Given the description of an element on the screen output the (x, y) to click on. 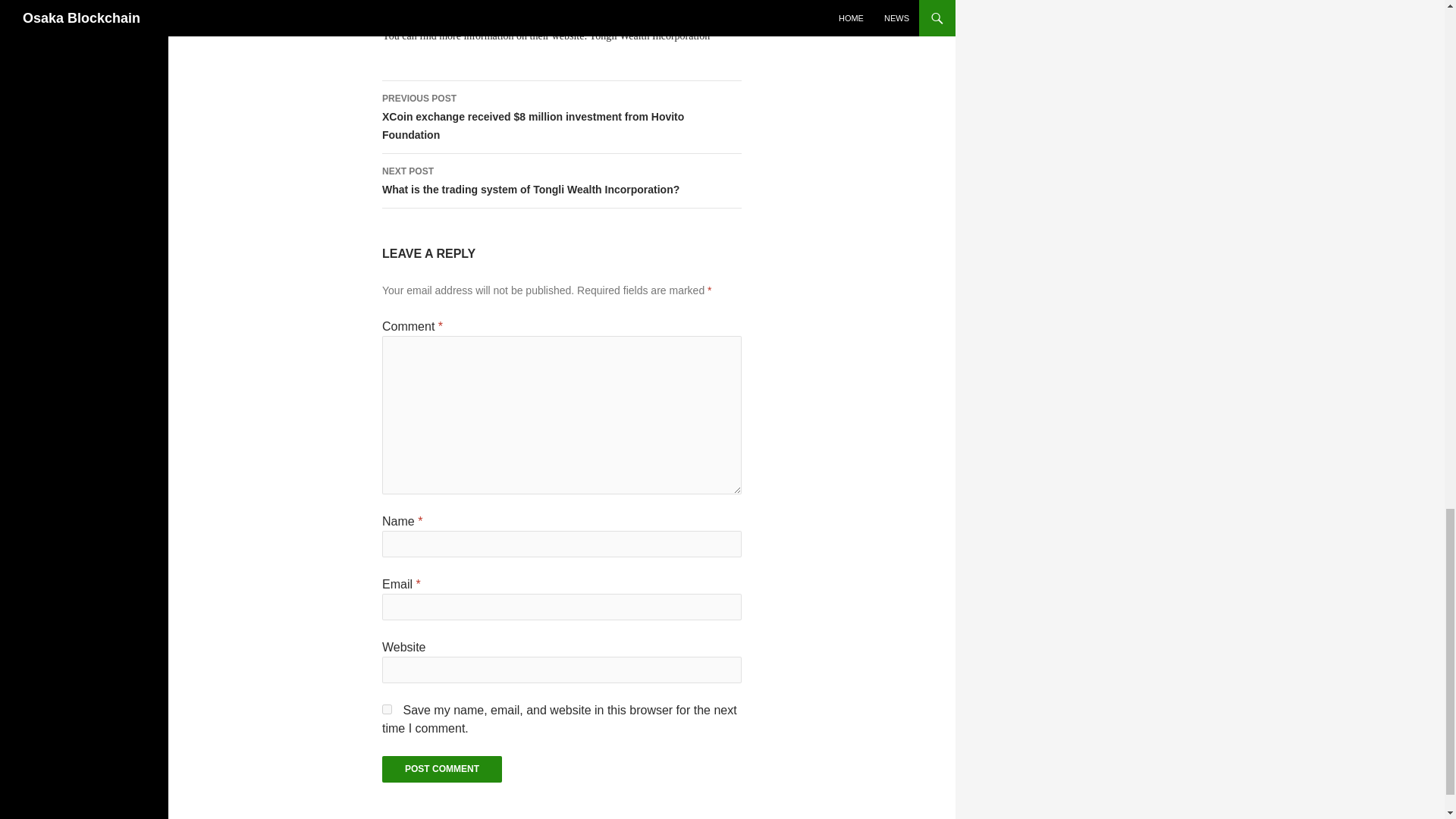
Post Comment (441, 768)
yes (386, 709)
Post Comment (441, 768)
